Given the description of an element on the screen output the (x, y) to click on. 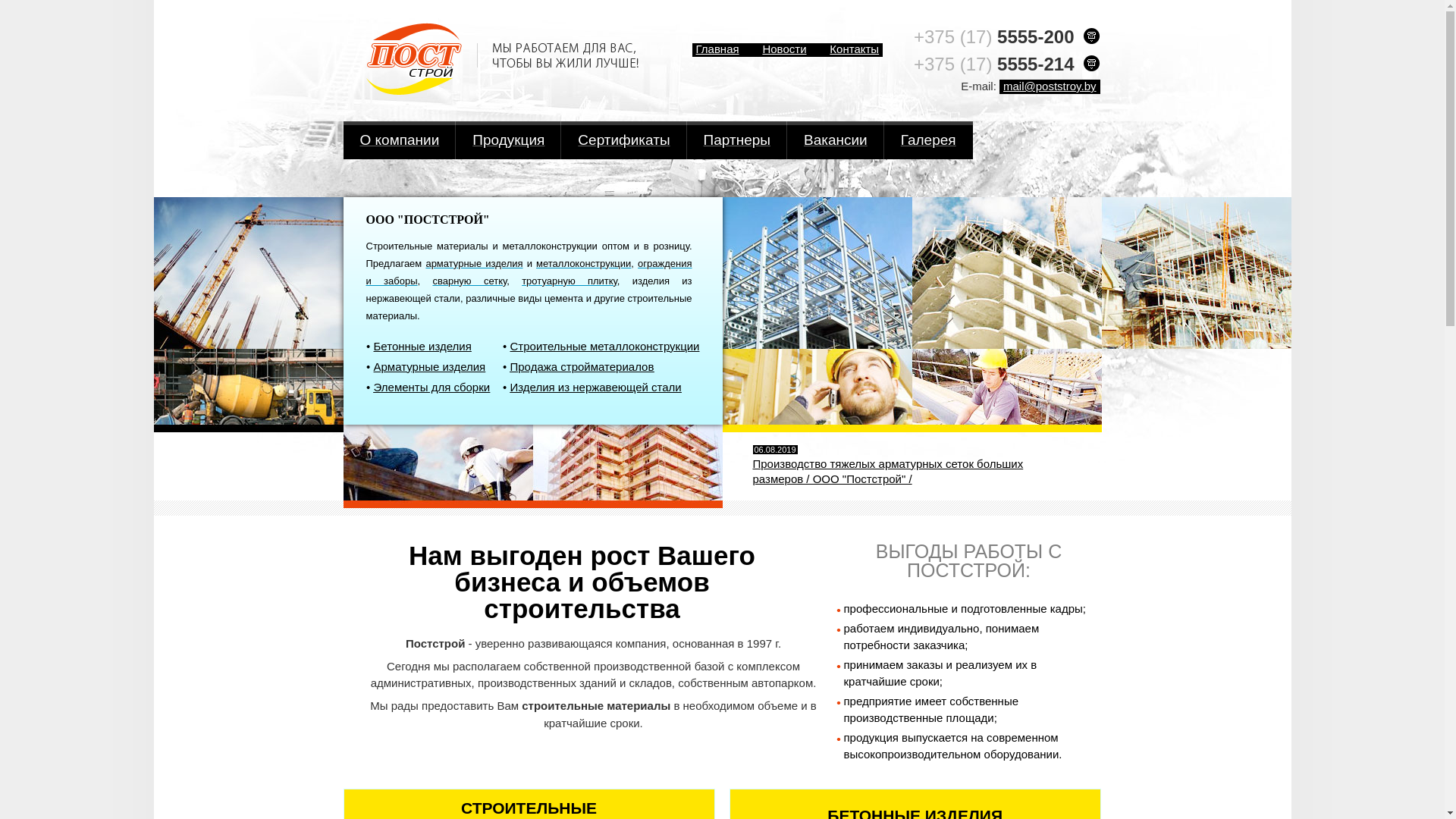
mail@poststroy.by Element type: text (1049, 86)
